Given the description of an element on the screen output the (x, y) to click on. 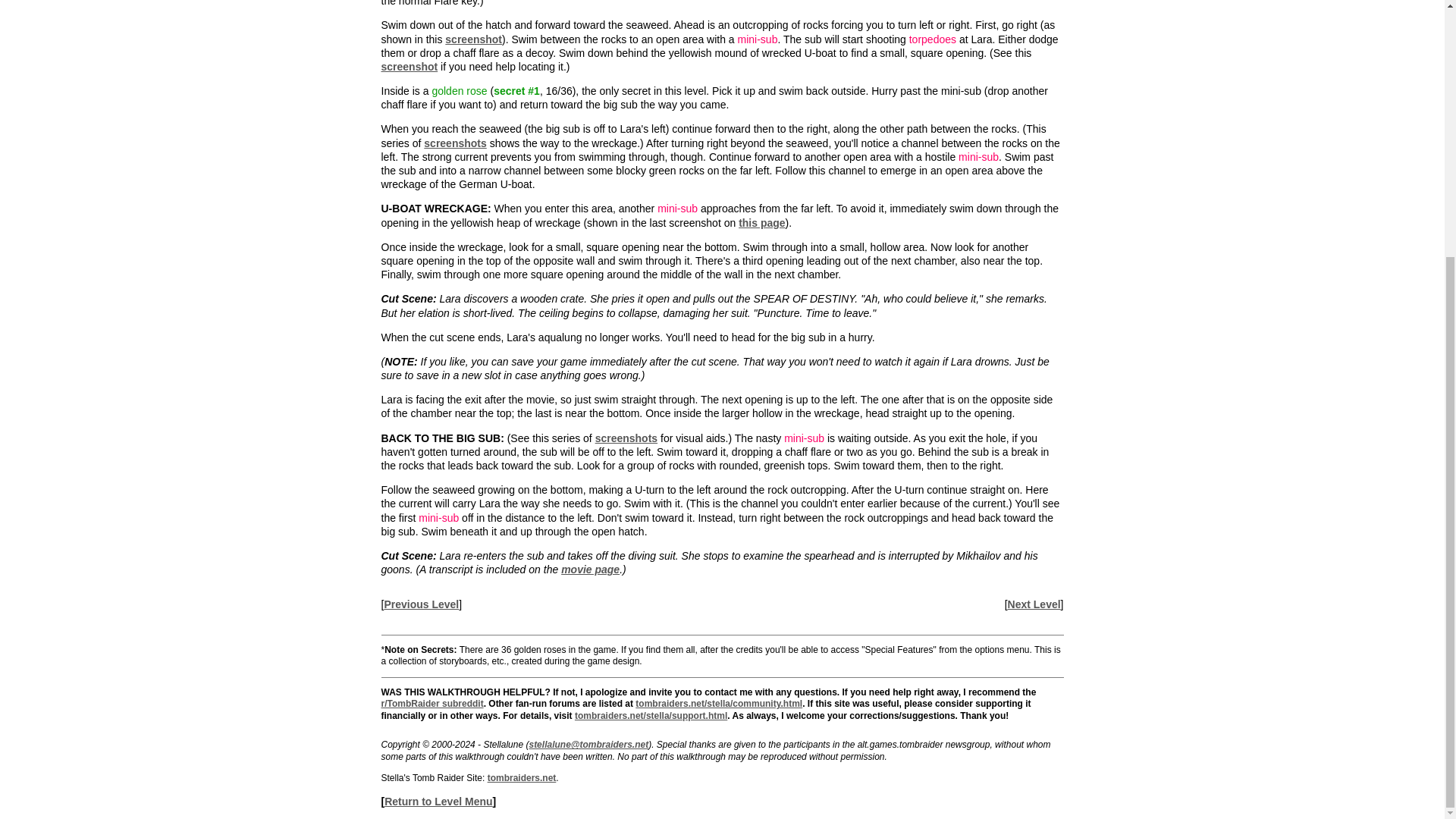
movie page (590, 569)
Return to Level Menu (438, 801)
screenshots (626, 438)
tombraiders.net (521, 777)
screenshots (454, 143)
Next Level (1034, 604)
this page (761, 223)
screenshot (409, 66)
screenshot (473, 39)
Previous Level (421, 604)
